Given the description of an element on the screen output the (x, y) to click on. 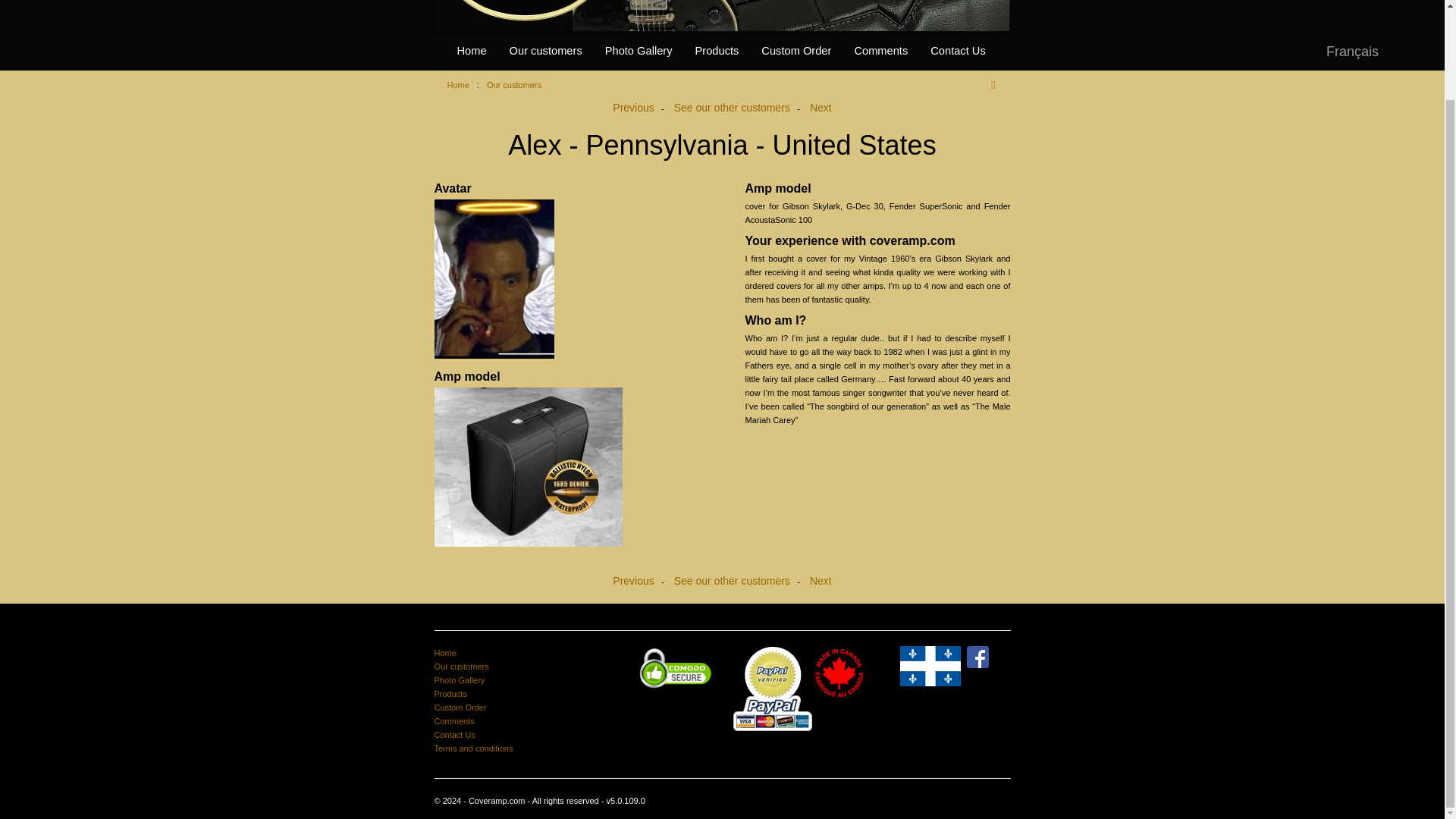
Comments (453, 720)
Alex (565, 278)
Previous (632, 107)
Contact Us (453, 734)
Custom Order (796, 50)
Home (444, 652)
Our customers (460, 665)
Previous (632, 580)
Products (449, 693)
Home (457, 84)
Comments (880, 50)
Follow us on Facebook (977, 655)
Next (820, 107)
Terms and conditions (472, 747)
